Given the description of an element on the screen output the (x, y) to click on. 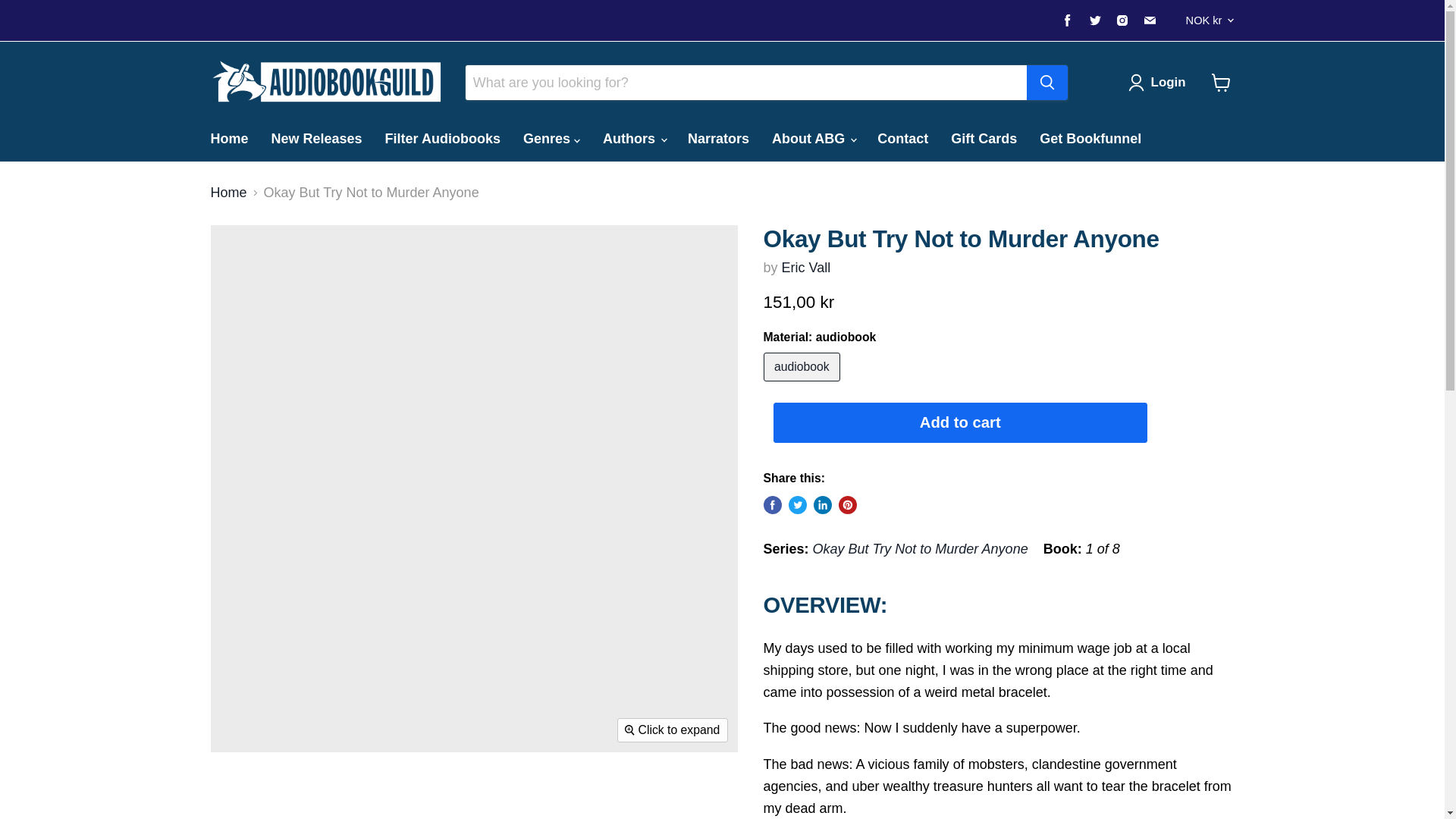
Find us on Email (1149, 20)
NOK kr (1205, 20)
Email (1149, 20)
Find us on Twitter (1094, 20)
New Releases (317, 138)
Home (228, 138)
Find us on Instagram (1122, 20)
Login (1168, 82)
View cart (1221, 82)
Twitter (1094, 20)
